Given the description of an element on the screen output the (x, y) to click on. 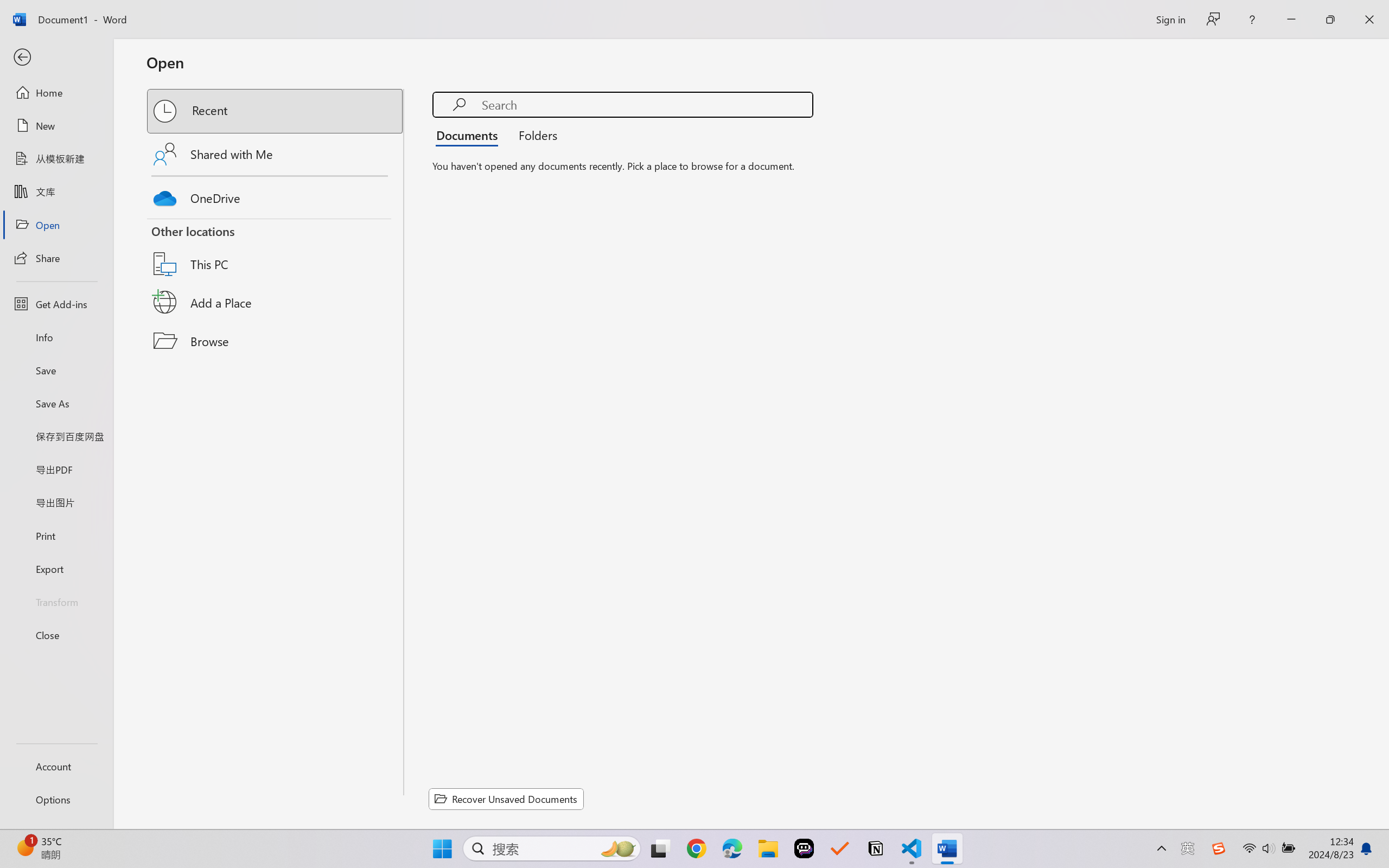
Account (56, 765)
Save As (56, 403)
Documents (469, 134)
Shared with Me (275, 153)
Export (56, 568)
Recover Unsaved Documents (506, 798)
